Given the description of an element on the screen output the (x, y) to click on. 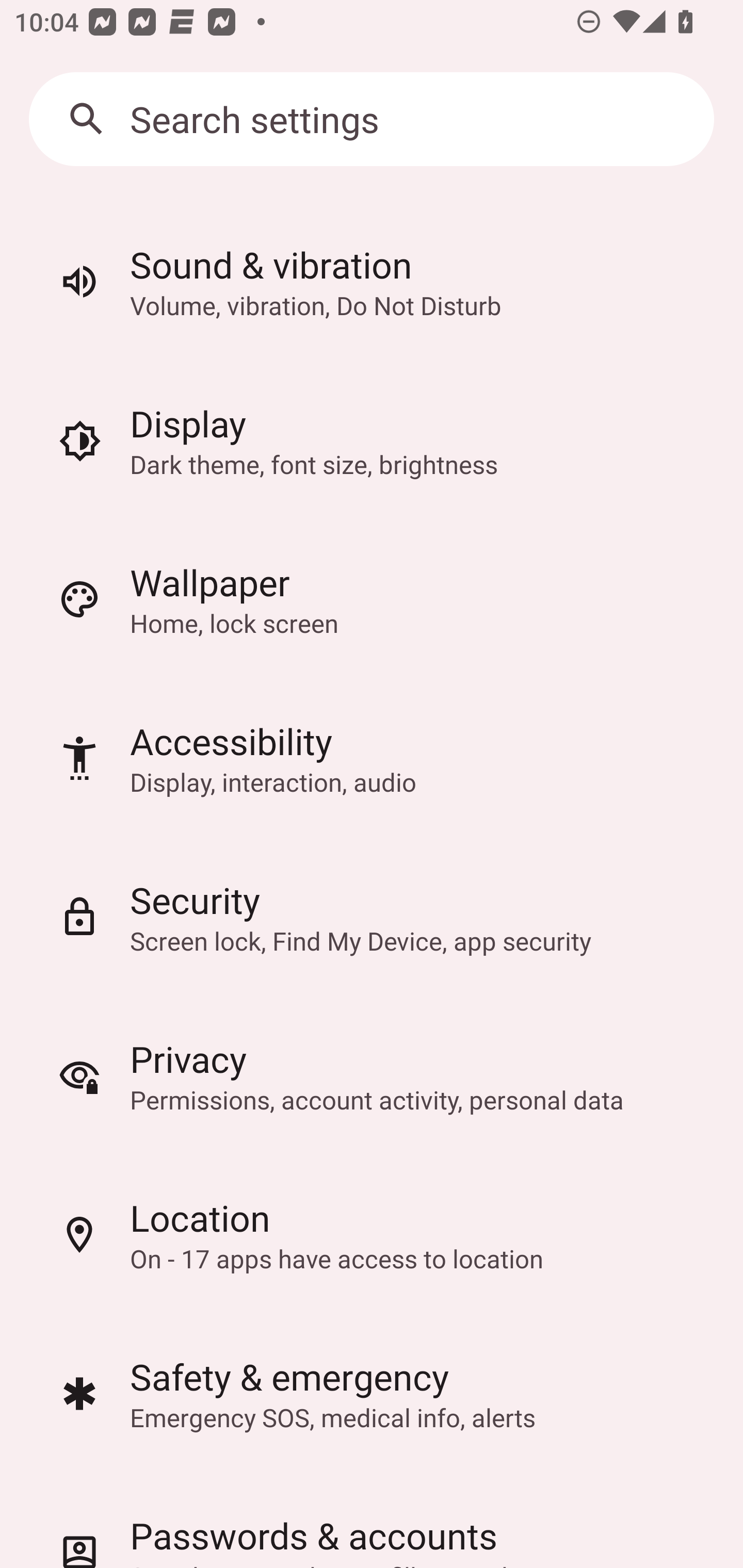
Search settings (371, 119)
Display Dark theme, font size, brightness (371, 440)
Wallpaper Home, lock screen (371, 599)
Accessibility Display, interaction, audio (371, 757)
Security Screen lock, Find My Device, app security (371, 917)
Location On - 17 apps have access to location (371, 1234)
